Given the description of an element on the screen output the (x, y) to click on. 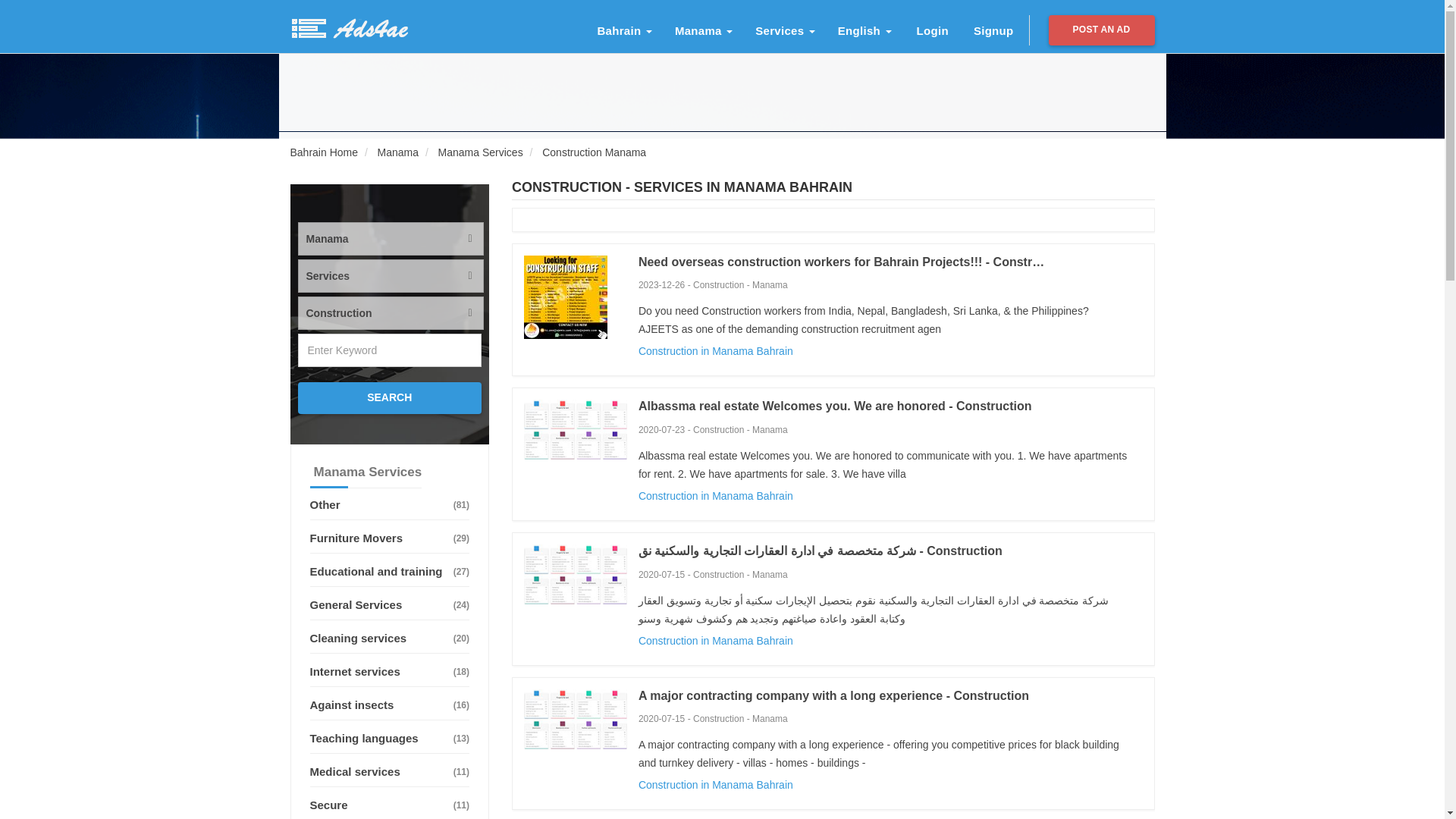
Bahrain Home (323, 152)
Internet services Manama (388, 672)
Furniture Movers Manama (388, 538)
Medical services Manama (388, 772)
Other Manama (388, 486)
Manama (398, 152)
Manama (703, 30)
Secure Manama (388, 805)
Cleaning services Manama (388, 638)
Teaching languages Manama (388, 738)
